Given the description of an element on the screen output the (x, y) to click on. 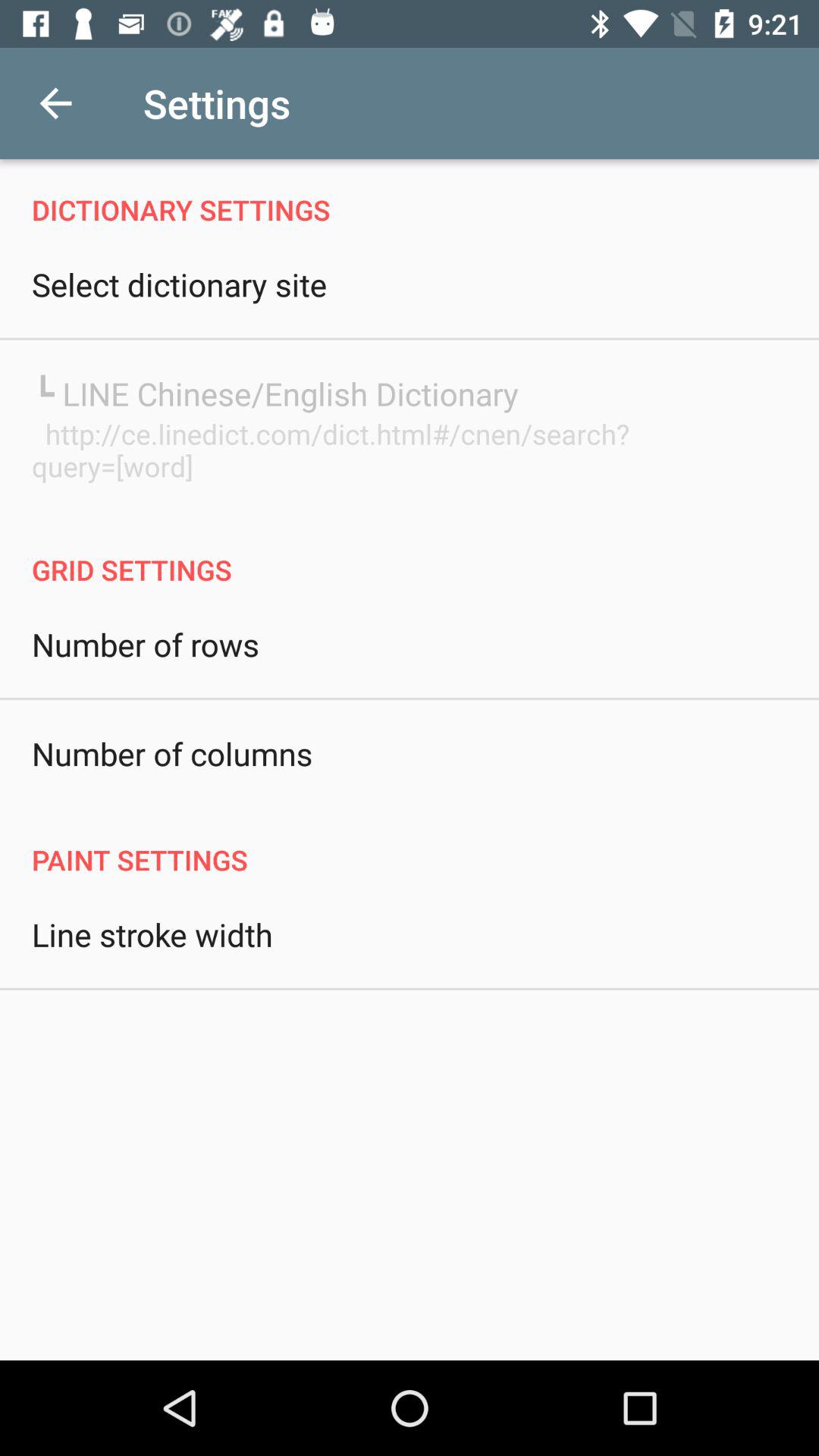
turn on the line chinese english (274, 393)
